Given the description of an element on the screen output the (x, y) to click on. 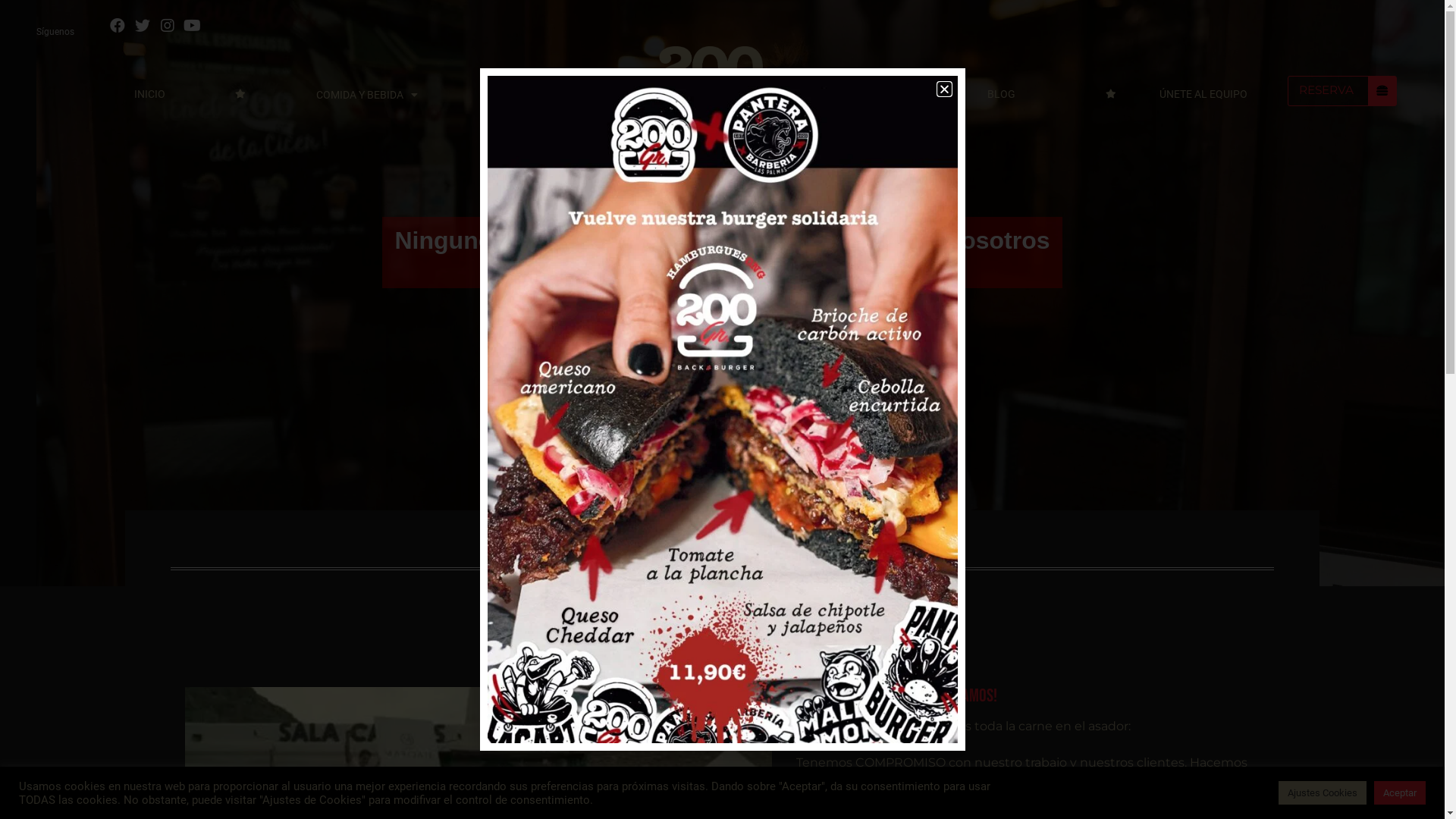
LOCALES Element type: text (858, 94)
BLOG Element type: text (1001, 93)
Aceptar Element type: text (1399, 792)
COMIDA Y BEBIDA Element type: text (366, 94)
Ajustes Cookies Element type: text (1322, 792)
RESERVA Element type: text (1341, 90)
INICIO Element type: text (149, 93)
FOODTRUCK Element type: text (539, 93)
RESERVA TU MESA Element type: text (1324, 801)
